Given the description of an element on the screen output the (x, y) to click on. 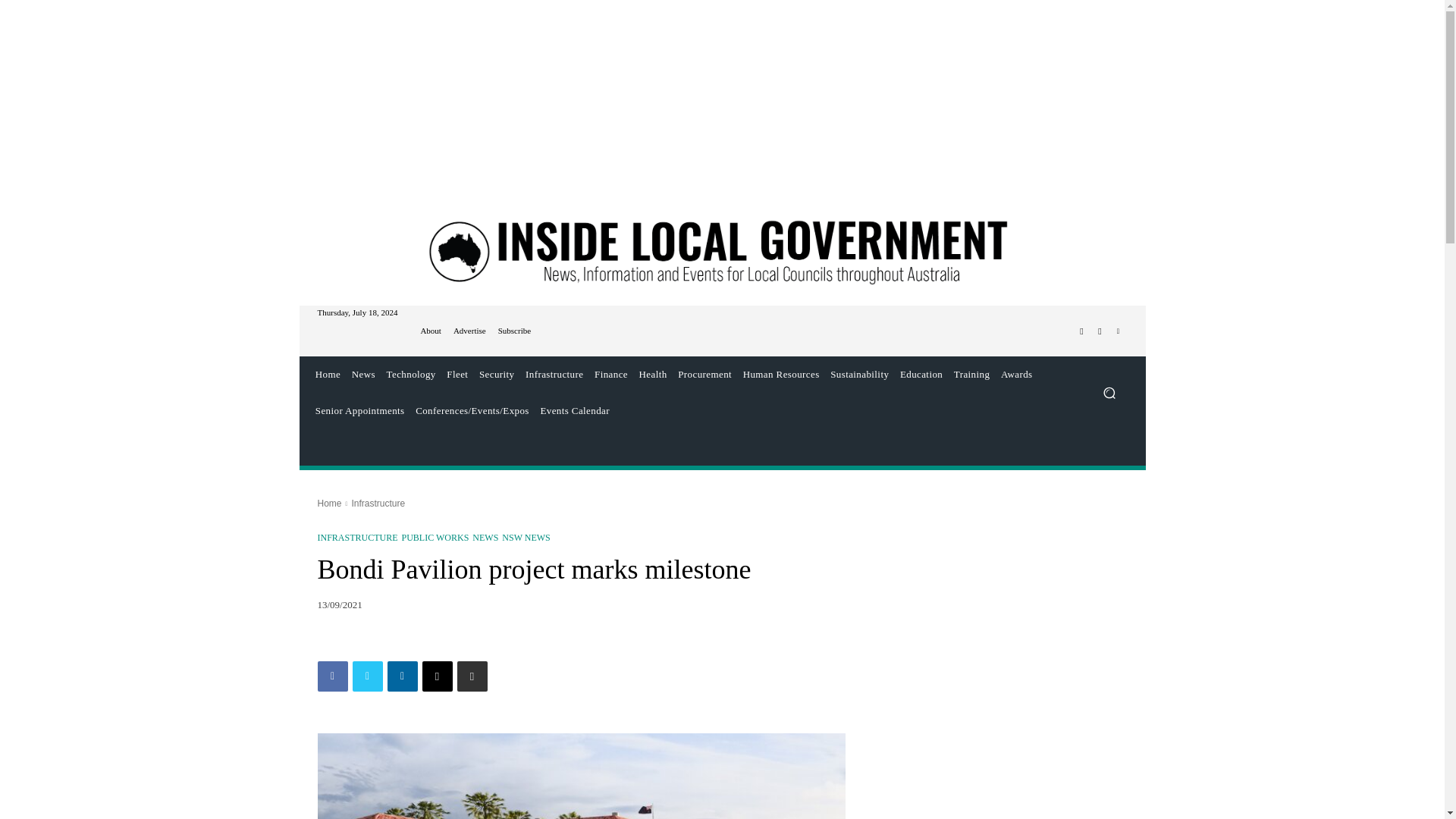
Linkedin (401, 675)
Advertise (469, 330)
Twitter (366, 675)
Subscribe (514, 330)
Linkedin (1117, 331)
Facebook (332, 675)
Twitter (1099, 331)
Facebook (1080, 331)
About (430, 330)
Email (436, 675)
View all posts in Infrastructure (377, 502)
Print (471, 675)
News (363, 374)
Home (327, 374)
